Given the description of an element on the screen output the (x, y) to click on. 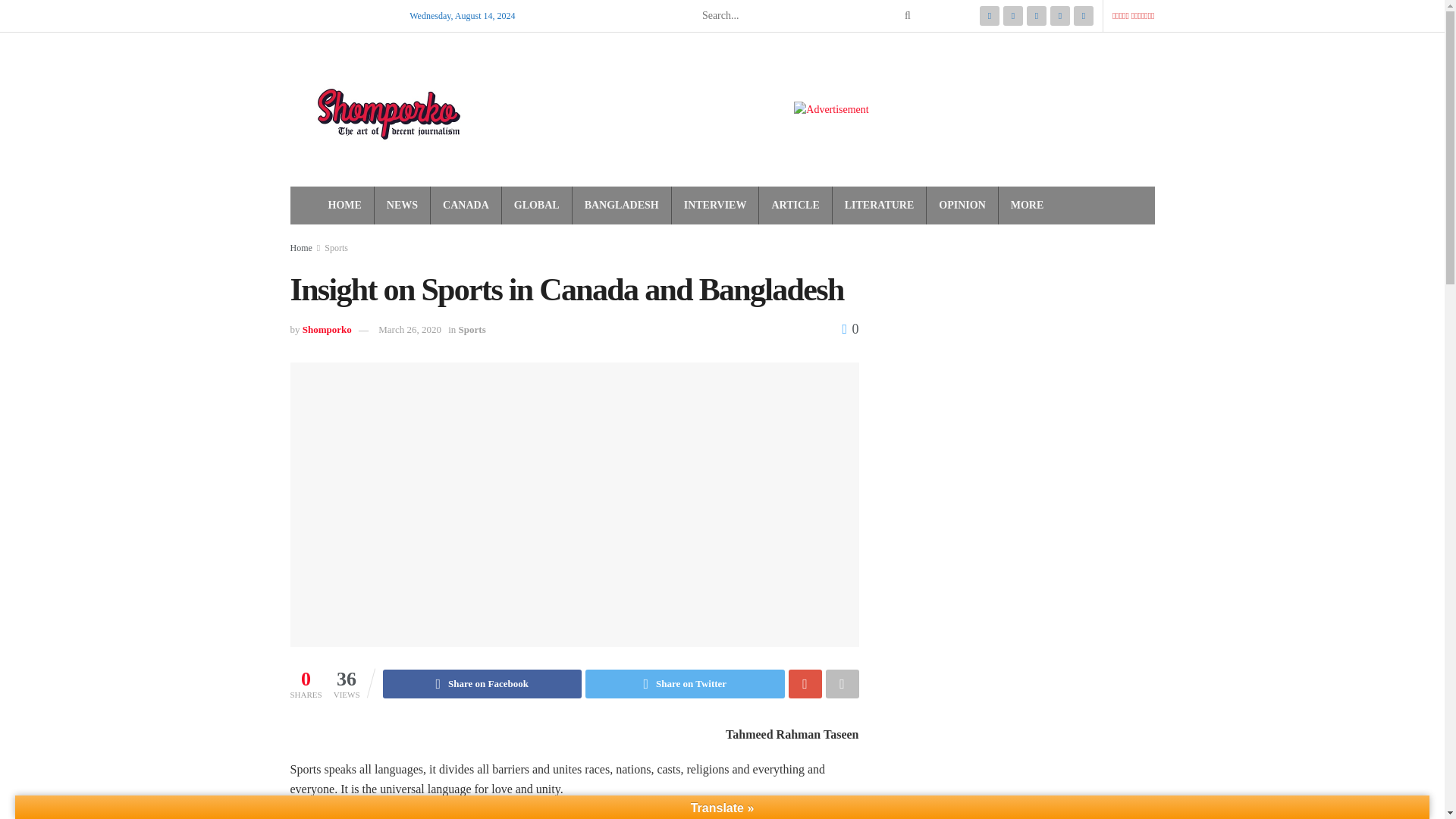
HOME (344, 205)
ARTICLE (794, 205)
LITERATURE (879, 205)
NEWS (402, 205)
OPINION (962, 205)
INTERVIEW (715, 205)
GLOBAL (536, 205)
MORE (1026, 205)
CANADA (465, 205)
BANGLADESH (622, 205)
